Given the description of an element on the screen output the (x, y) to click on. 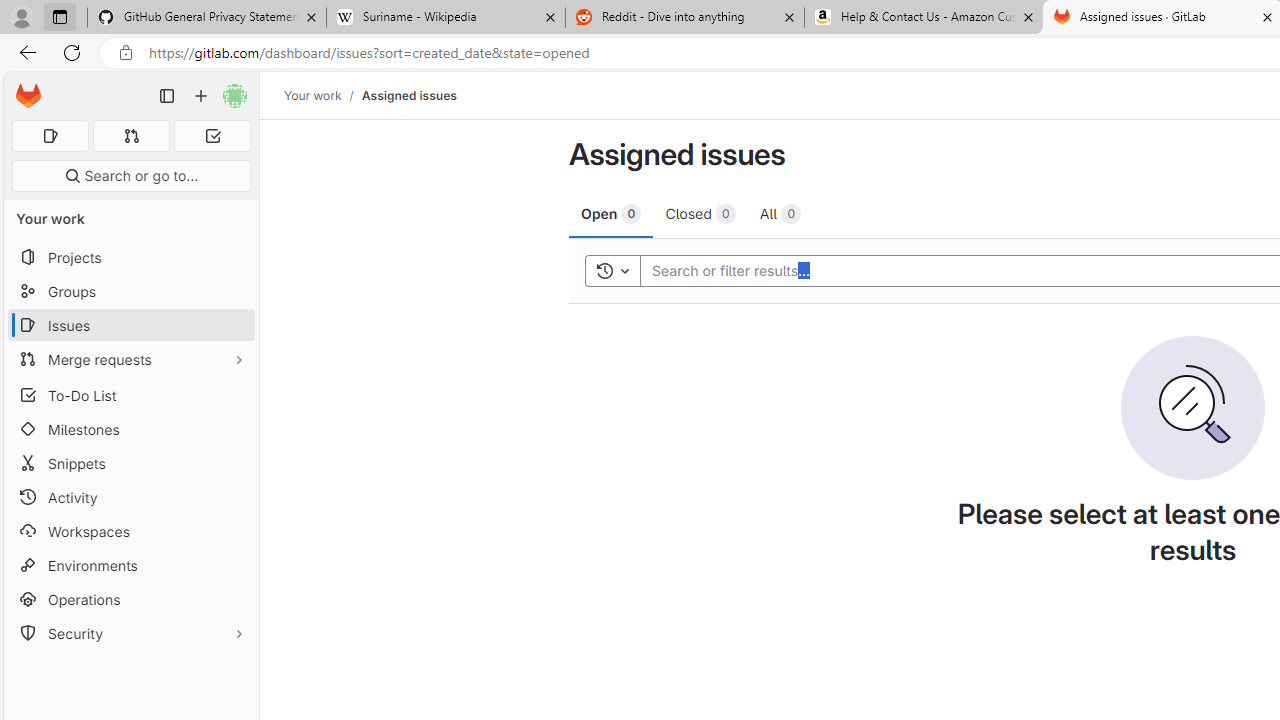
Your work (312, 95)
Closed 0 (699, 213)
Activity (130, 497)
Environments (130, 564)
Merge requests (130, 358)
Snippets (130, 463)
Snippets (130, 463)
Open 0 (611, 213)
GitHub General Privacy Statement - GitHub Docs (207, 17)
Assigned issues (408, 95)
Merge requests 0 (131, 136)
